Given the description of an element on the screen output the (x, y) to click on. 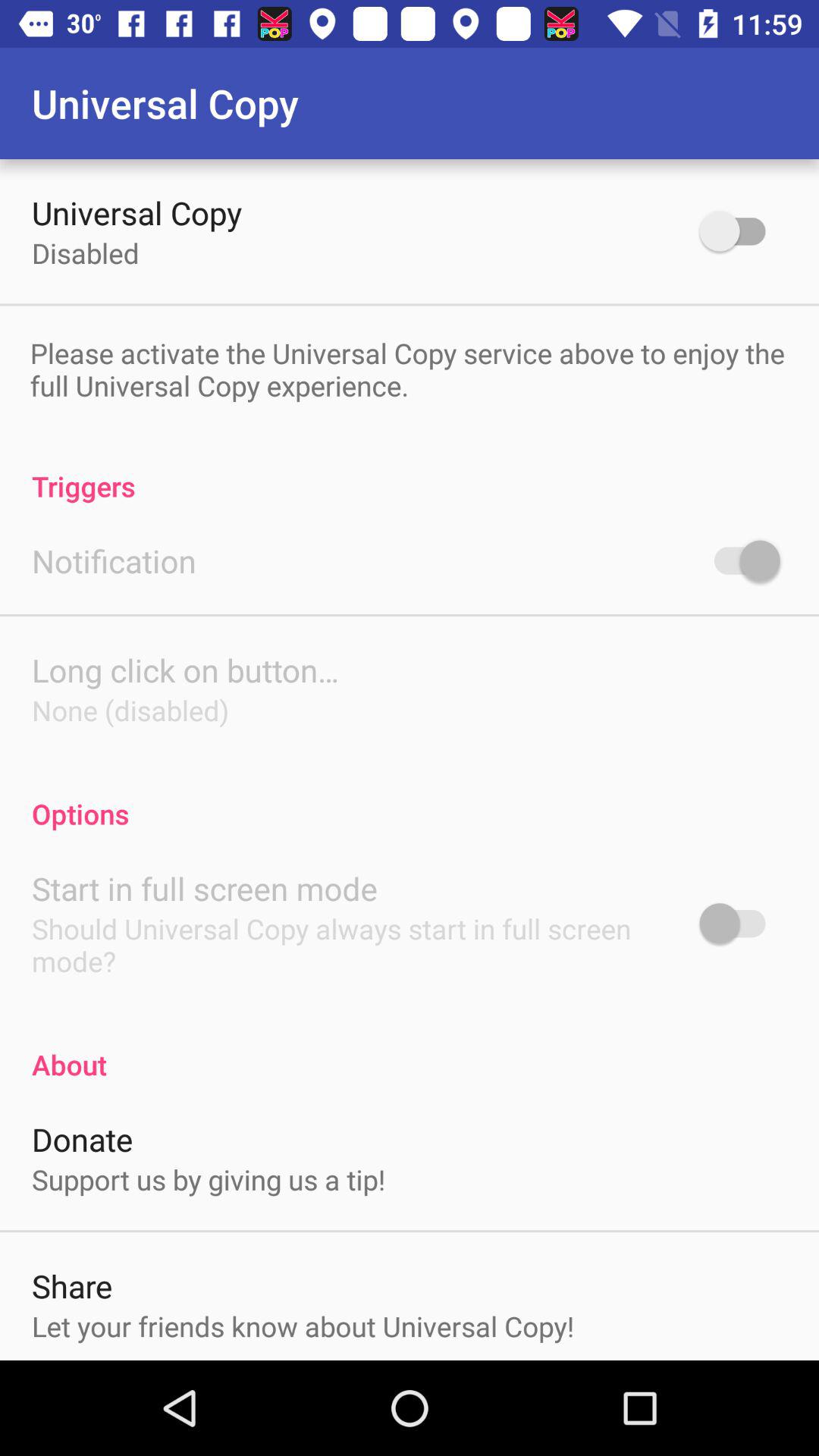
toggle full screen mode (739, 923)
